Given the description of an element on the screen output the (x, y) to click on. 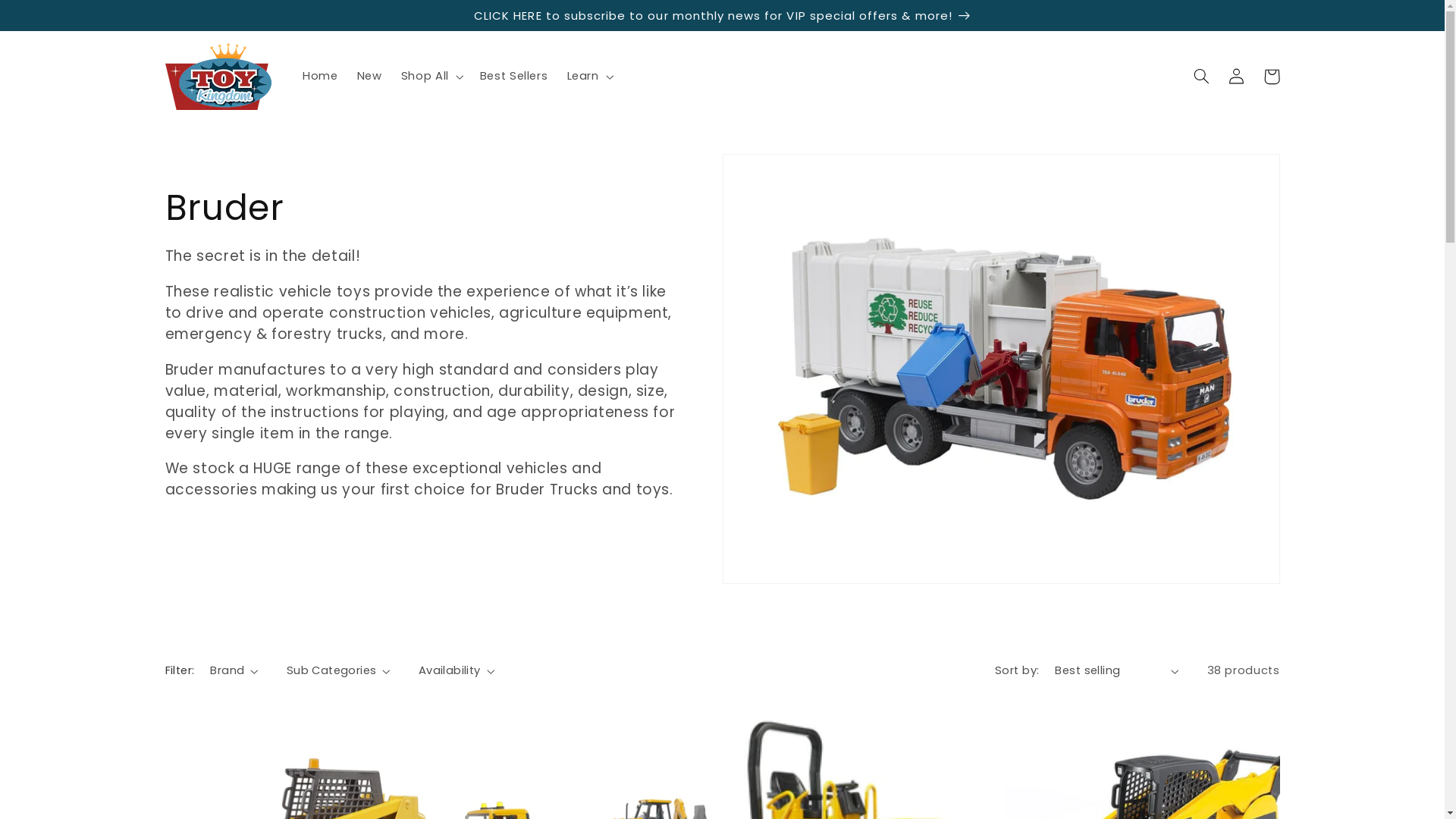
New Element type: text (369, 76)
Home Element type: text (319, 76)
Best Sellers Element type: text (513, 76)
Log in Element type: text (1236, 76)
Cart Element type: text (1271, 76)
